Given the description of an element on the screen output the (x, y) to click on. 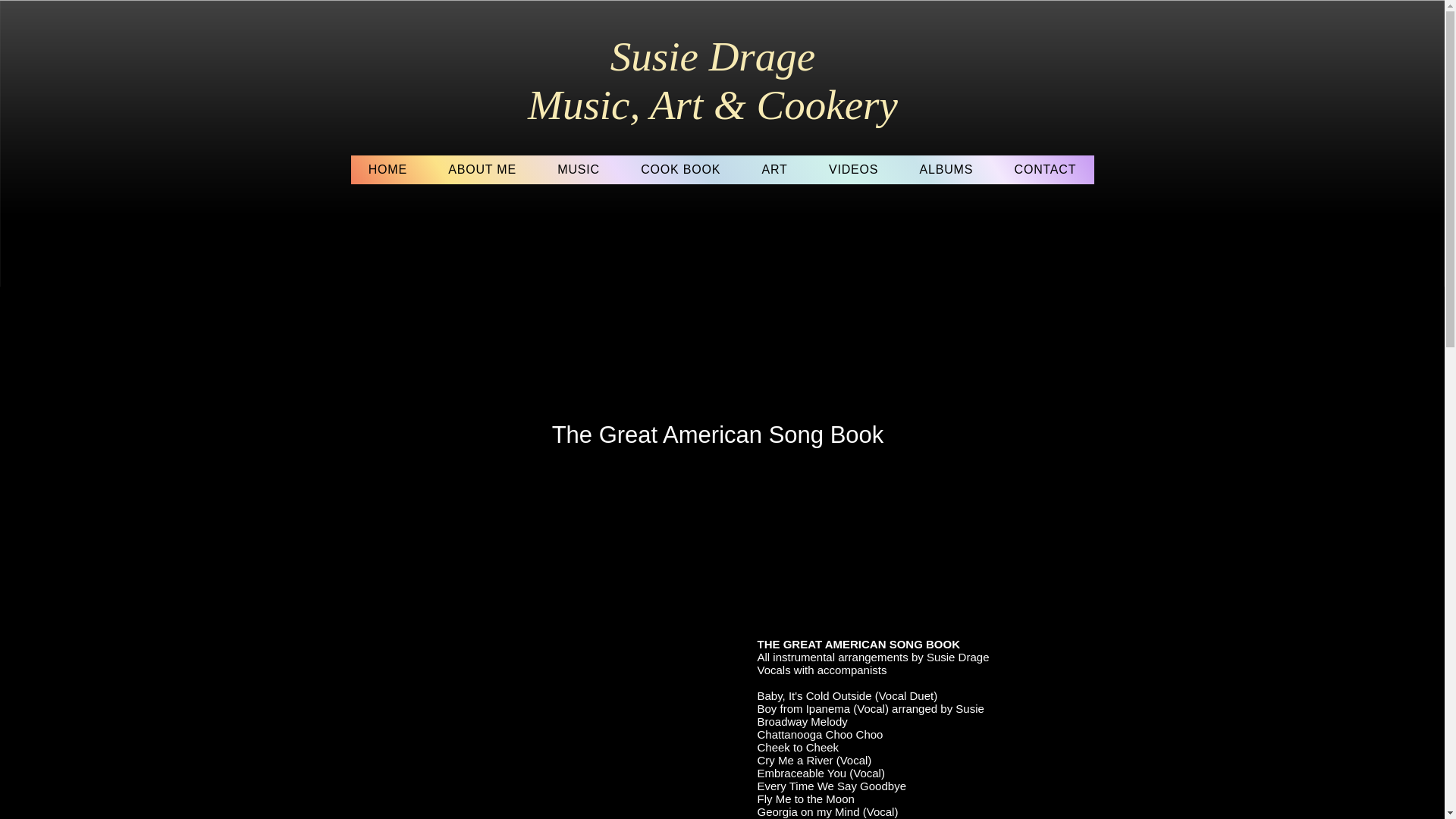
ALBUMS (945, 169)
COOK BOOK (680, 169)
MUSIC (578, 169)
ABOUT ME (482, 169)
HOME (387, 169)
VIDEOS (853, 169)
ART (774, 169)
